Given the description of an element on the screen output the (x, y) to click on. 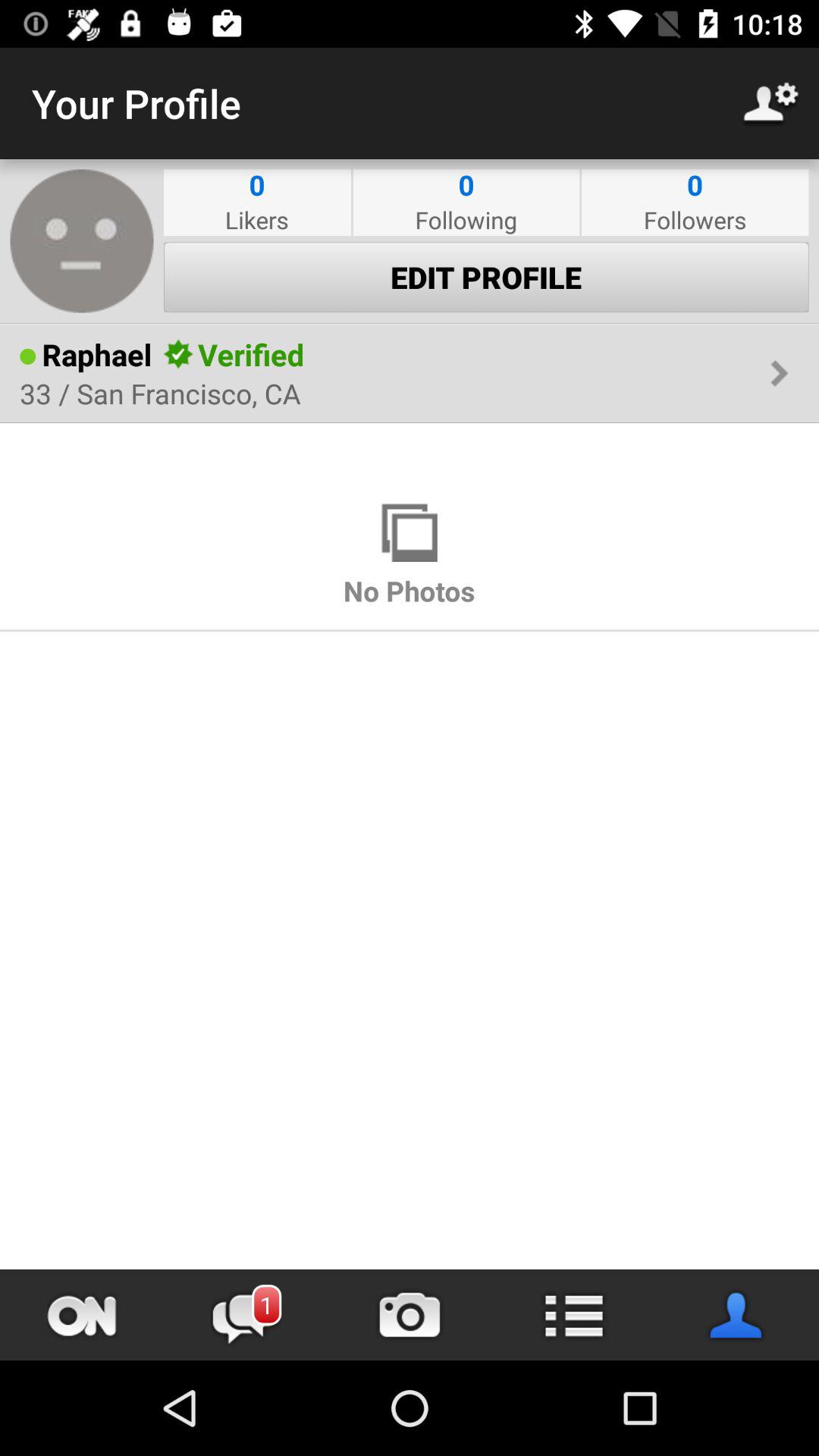
jump to followers icon (694, 219)
